Given the description of an element on the screen output the (x, y) to click on. 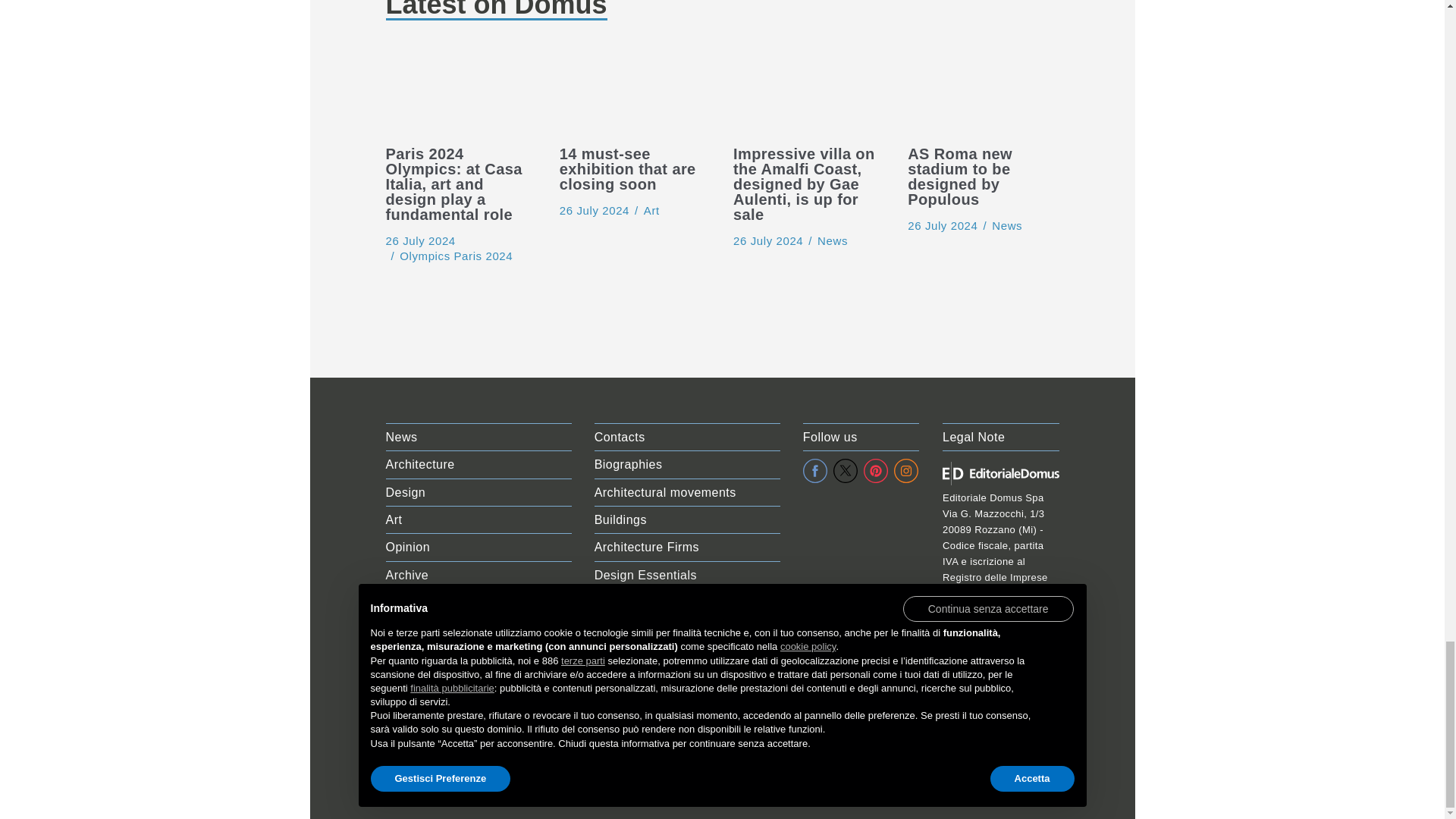
AS Roma new stadium to be designed by Populous (941, 225)
14  must-see exhibition that are closing soon  (593, 210)
AS Roma new stadium to be designed by Populous (982, 91)
14  must-see exhibition that are closing soon  (634, 91)
